Given the description of an element on the screen output the (x, y) to click on. 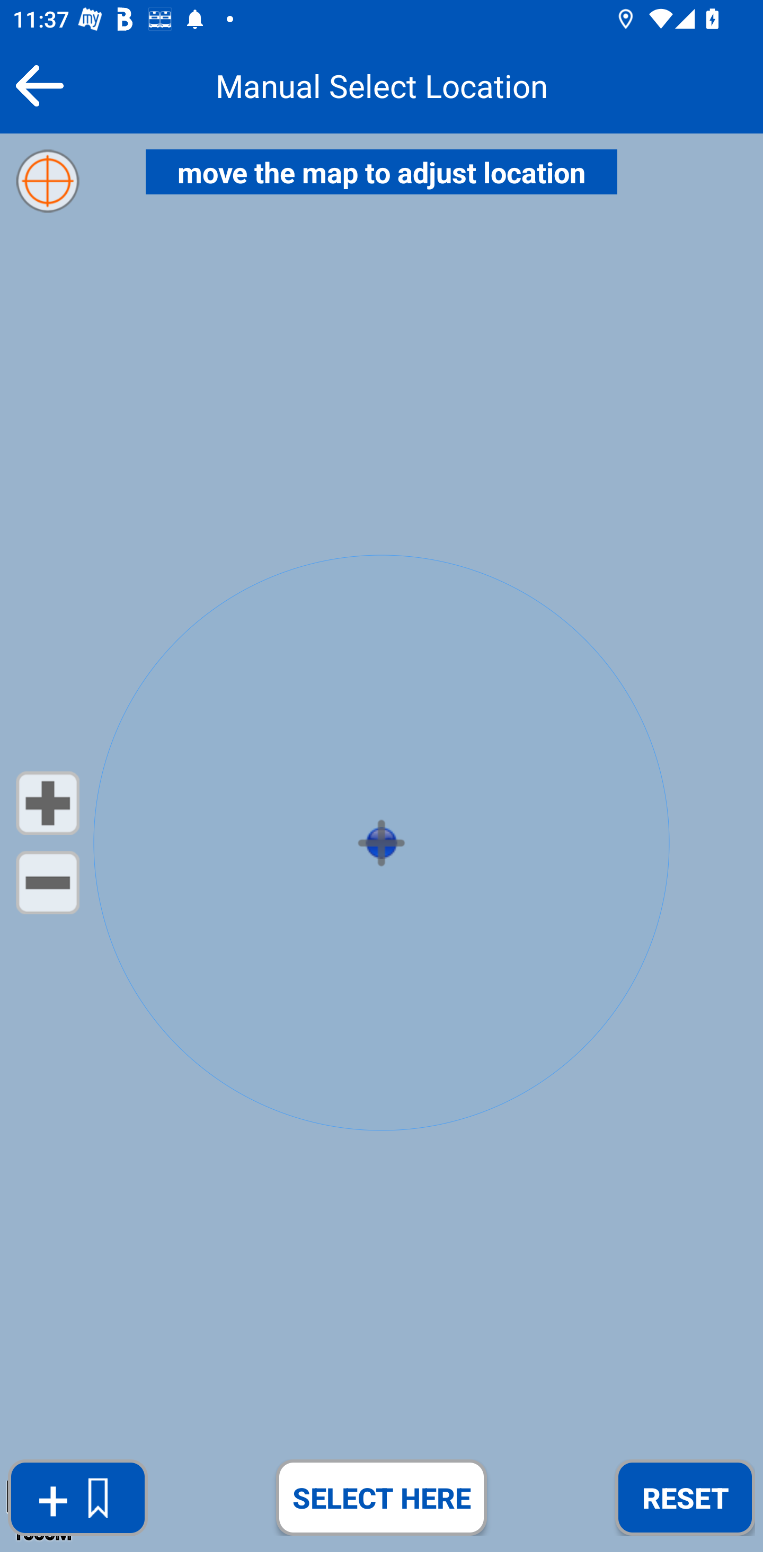
Back (39, 85)
Add bookmark (77, 1497)
SELECT HERE (381, 1497)
RESET (684, 1497)
